Given the description of an element on the screen output the (x, y) to click on. 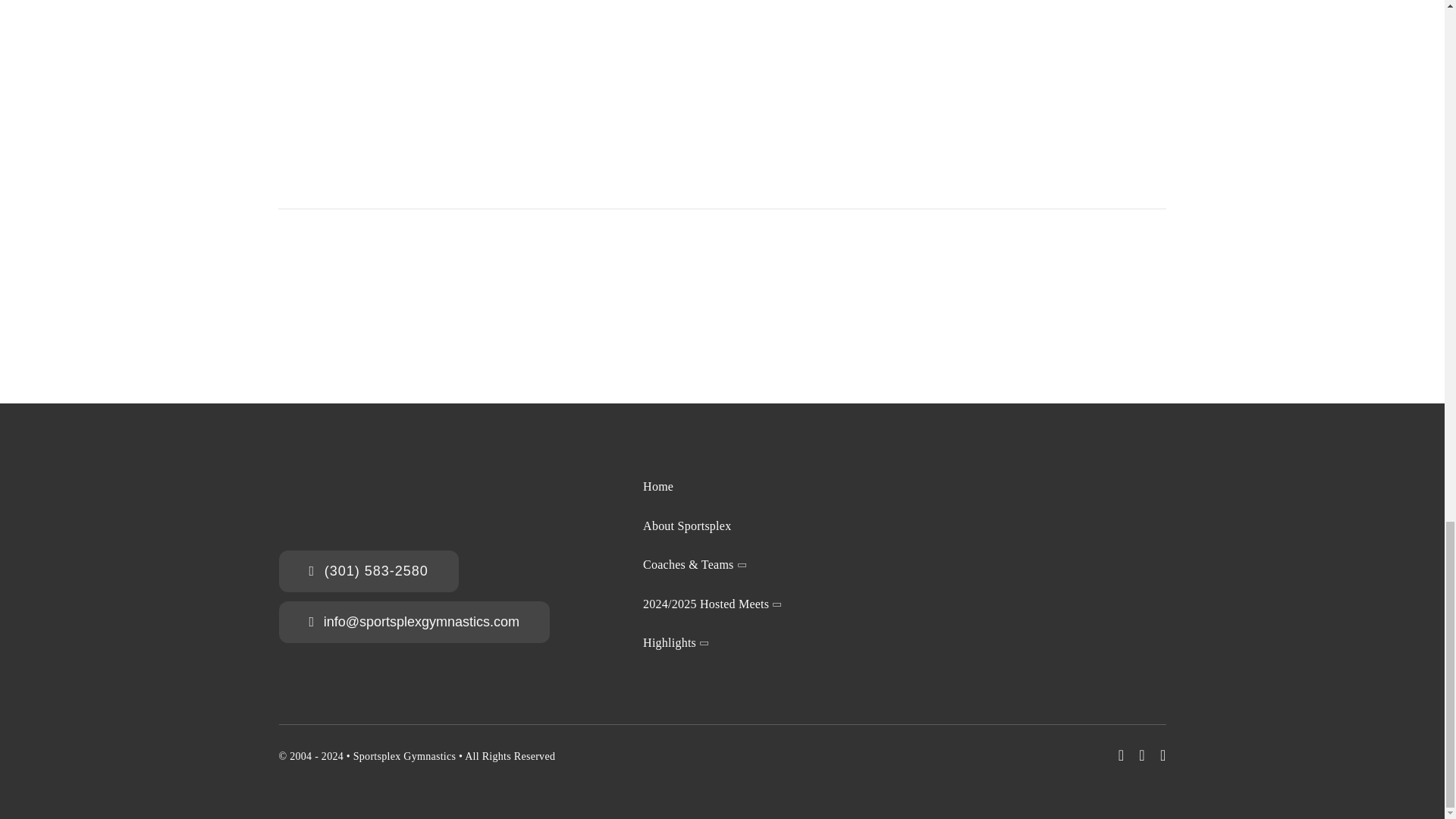
Home (722, 487)
SPLEX-LOGO-FOOTER (333, 497)
Post Comment (339, 146)
